Given the description of an element on the screen output the (x, y) to click on. 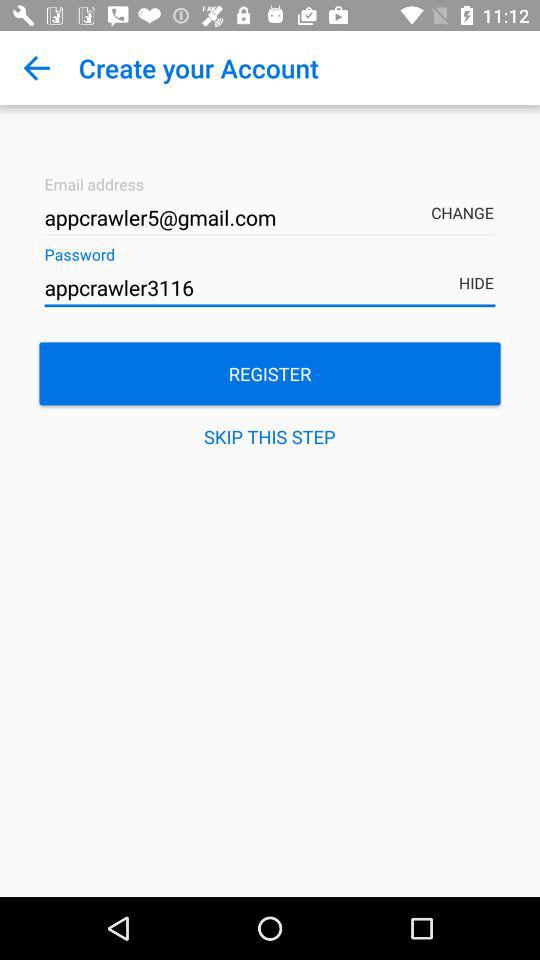
open item below appcrawler3116 icon (269, 373)
